Given the description of an element on the screen output the (x, y) to click on. 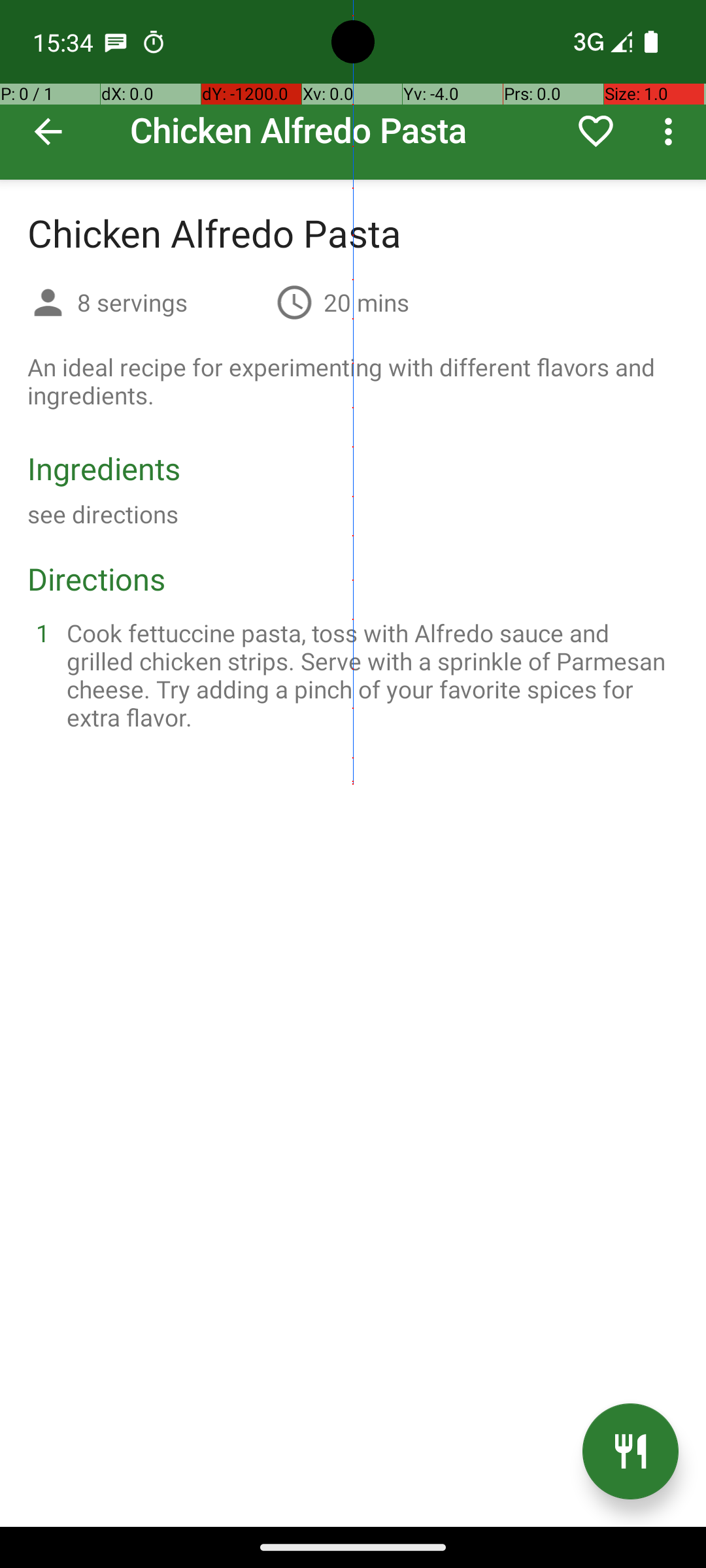
Cook fettuccine pasta, toss with Alfredo sauce and grilled chicken strips. Serve with a sprinkle of Parmesan cheese. Try adding a pinch of your favorite spices for extra flavor. Element type: android.widget.TextView (368, 674)
